Given the description of an element on the screen output the (x, y) to click on. 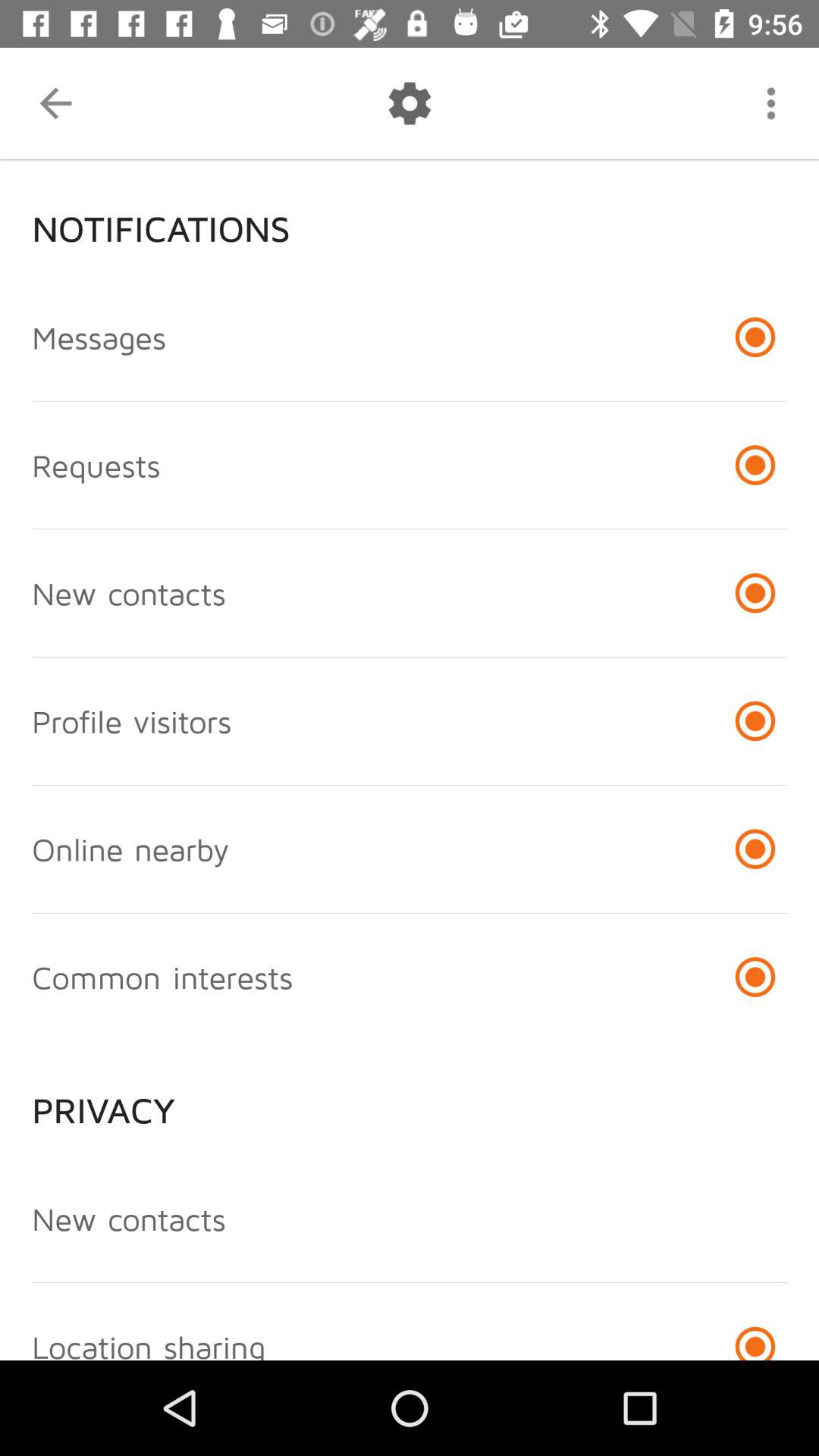
click item above the new contacts (409, 1097)
